Given the description of an element on the screen output the (x, y) to click on. 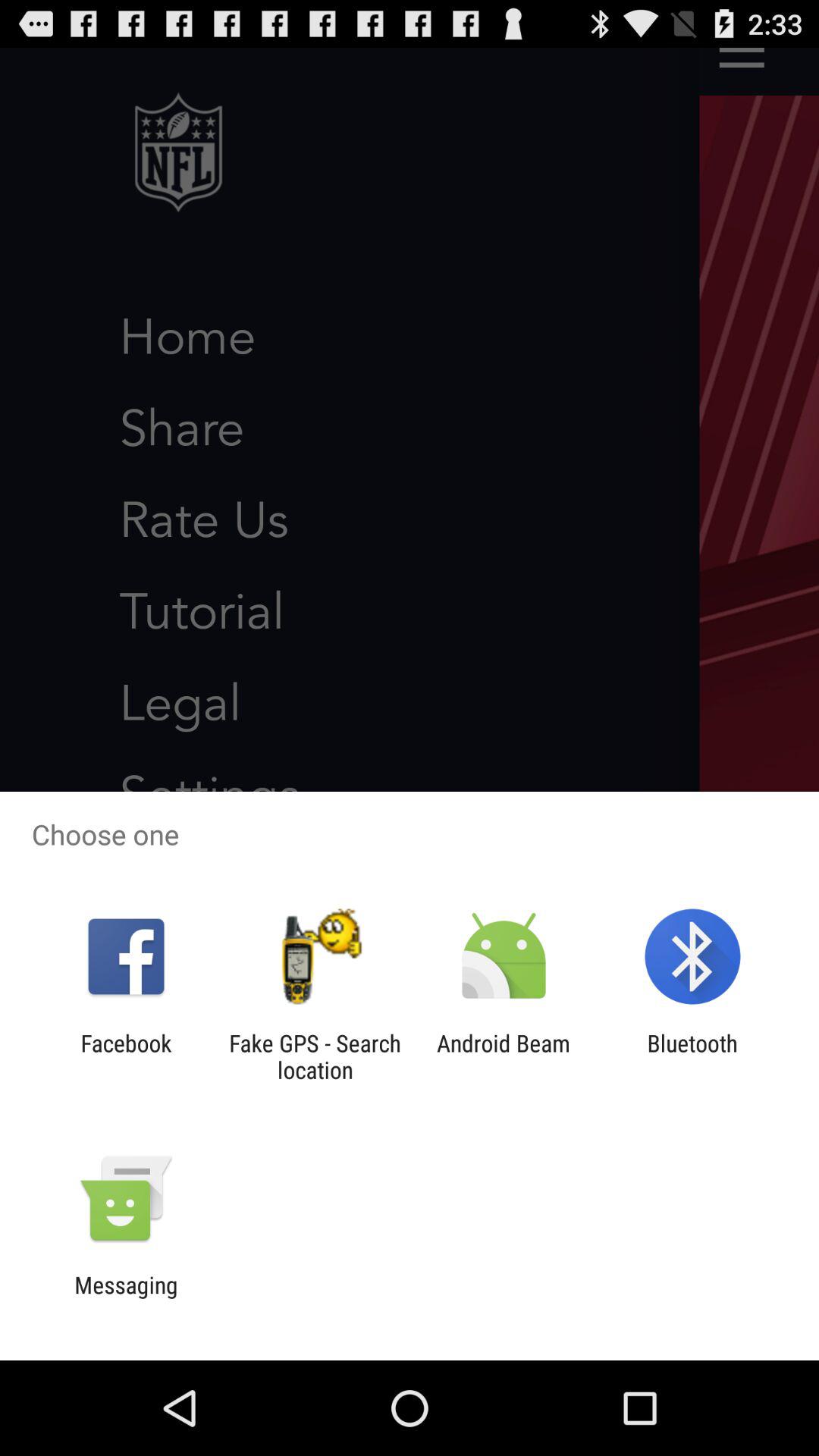
click the bluetooth icon (692, 1056)
